Given the description of an element on the screen output the (x, y) to click on. 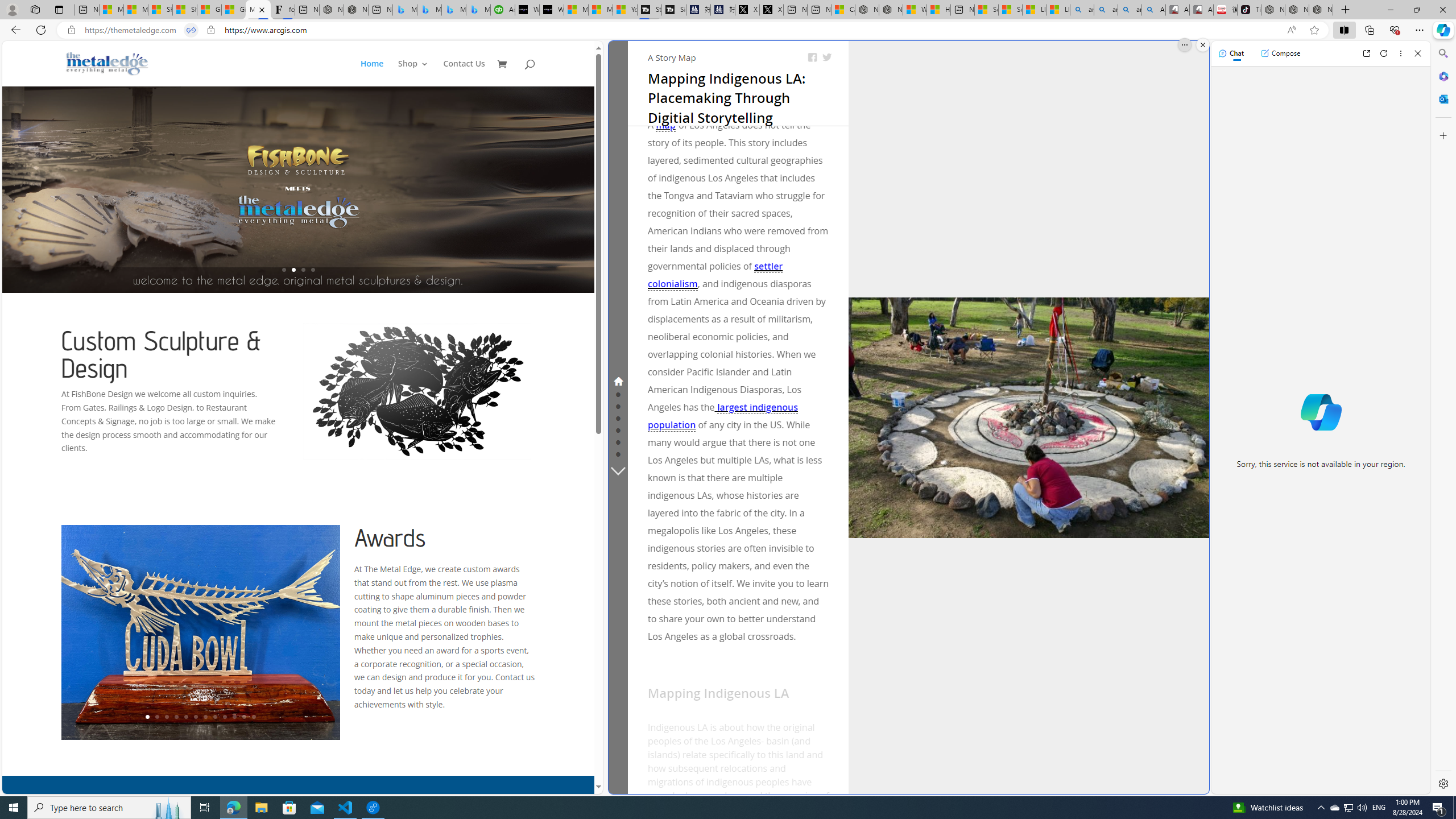
TikTok (1248, 9)
Next section (618, 469)
Go to section 6: Pacific Islanders of Los Angeles  (617, 440)
Tabs in split screen (190, 29)
Go to section 7: Latin American Indigenous Diasporas  (617, 453)
4 (176, 716)
3 (166, 716)
